Given the description of an element on the screen output the (x, y) to click on. 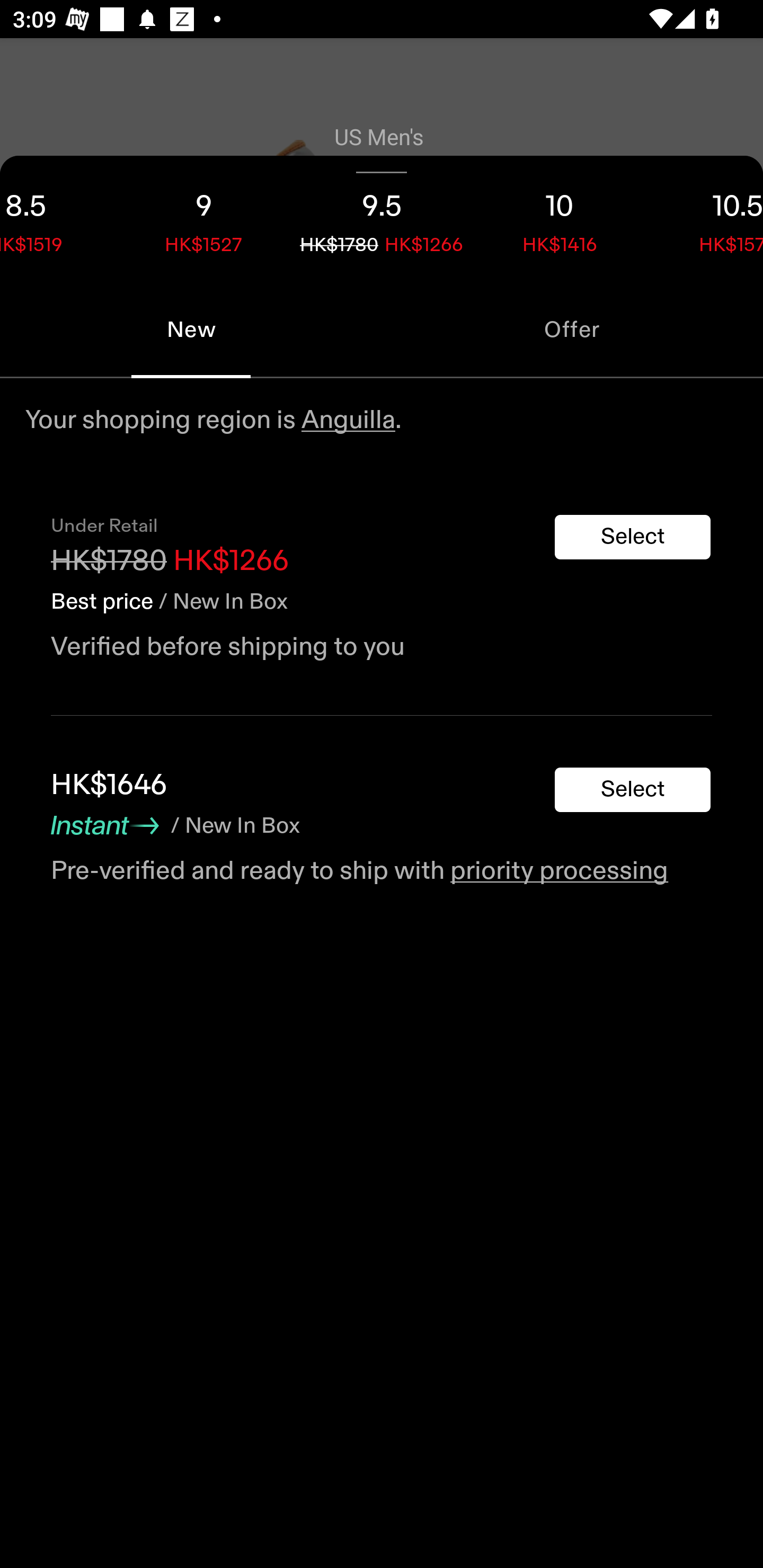
8.5 HK$1519 (57, 218)
9 HK$1527 (203, 218)
9.5 HK$1780 HK$1266 (381, 218)
10 HK$1416 (559, 218)
10.5 HK$1574 (705, 218)
Offer (572, 329)
Select (632, 536)
HK$1646 (109, 785)
Select (632, 789)
